Given the description of an element on the screen output the (x, y) to click on. 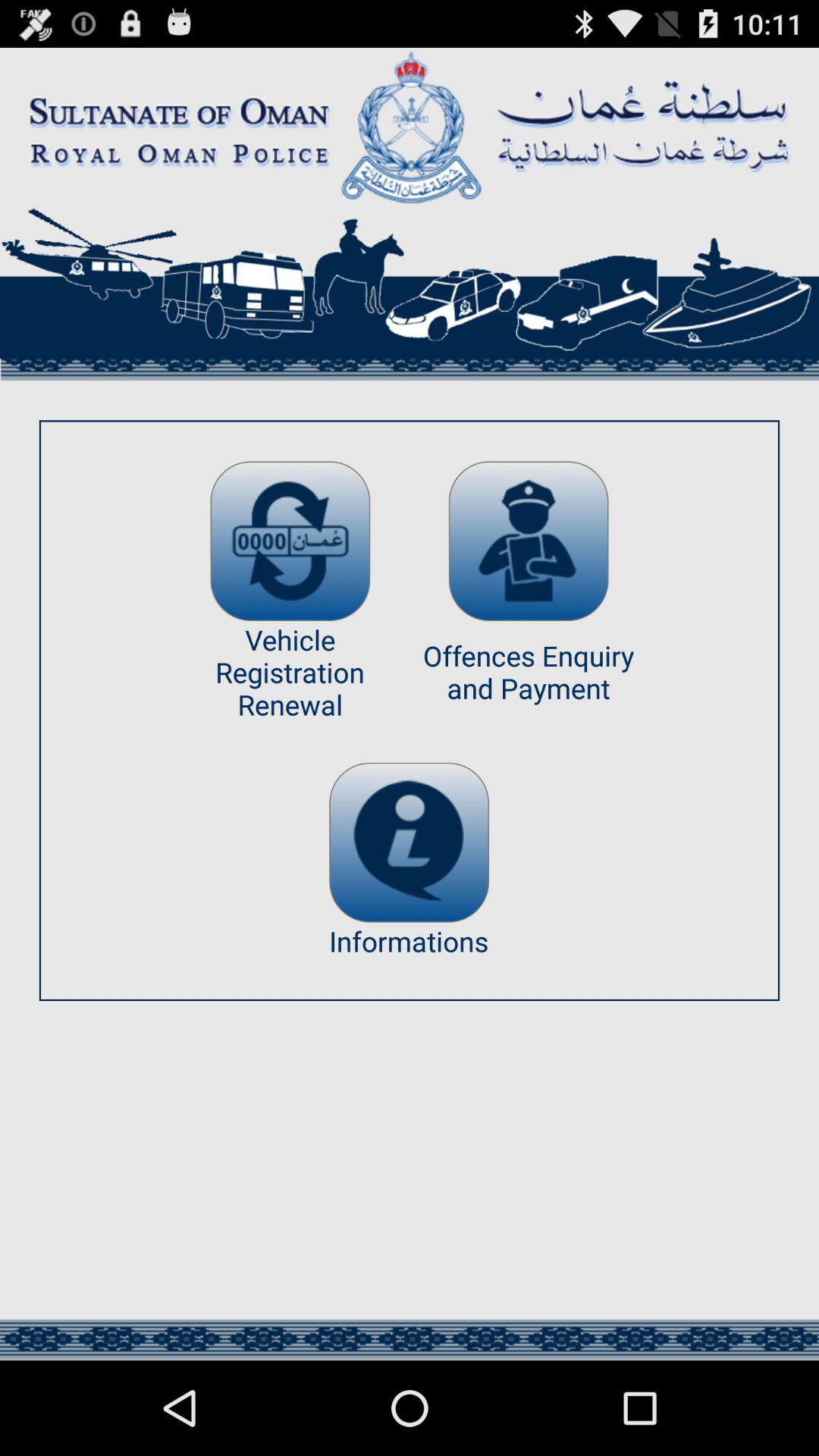
select the icon above informations (409, 842)
